Given the description of an element on the screen output the (x, y) to click on. 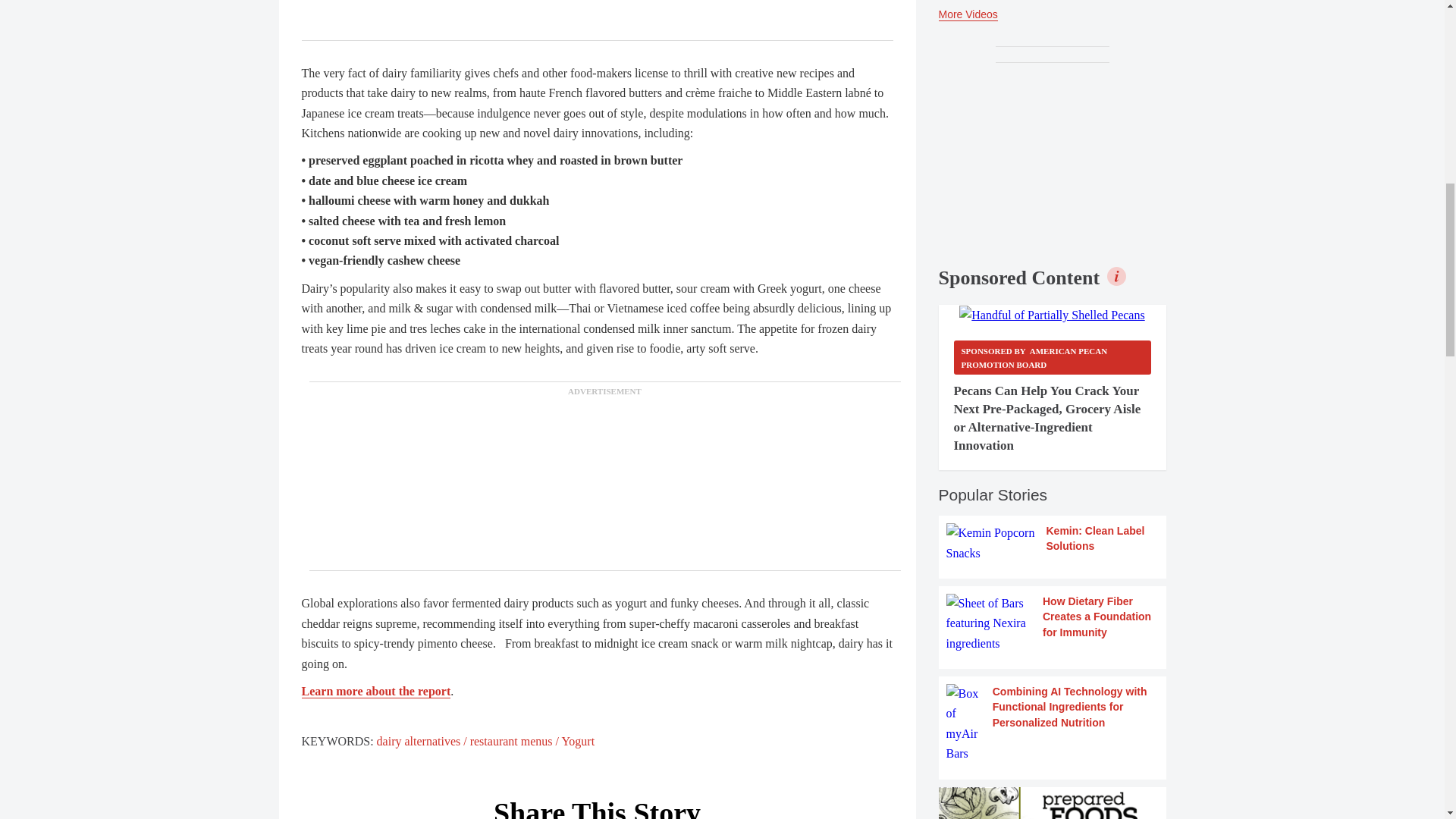
Sponsored by American Pecan Promotion Board (1052, 357)
Kemin: Clean Label Solutions (1052, 543)
Handful of Partially Shelled Pecans (1051, 315)
How Dietary Fiber Creates a Foundation for Immunity (1052, 623)
